Given the description of an element on the screen output the (x, y) to click on. 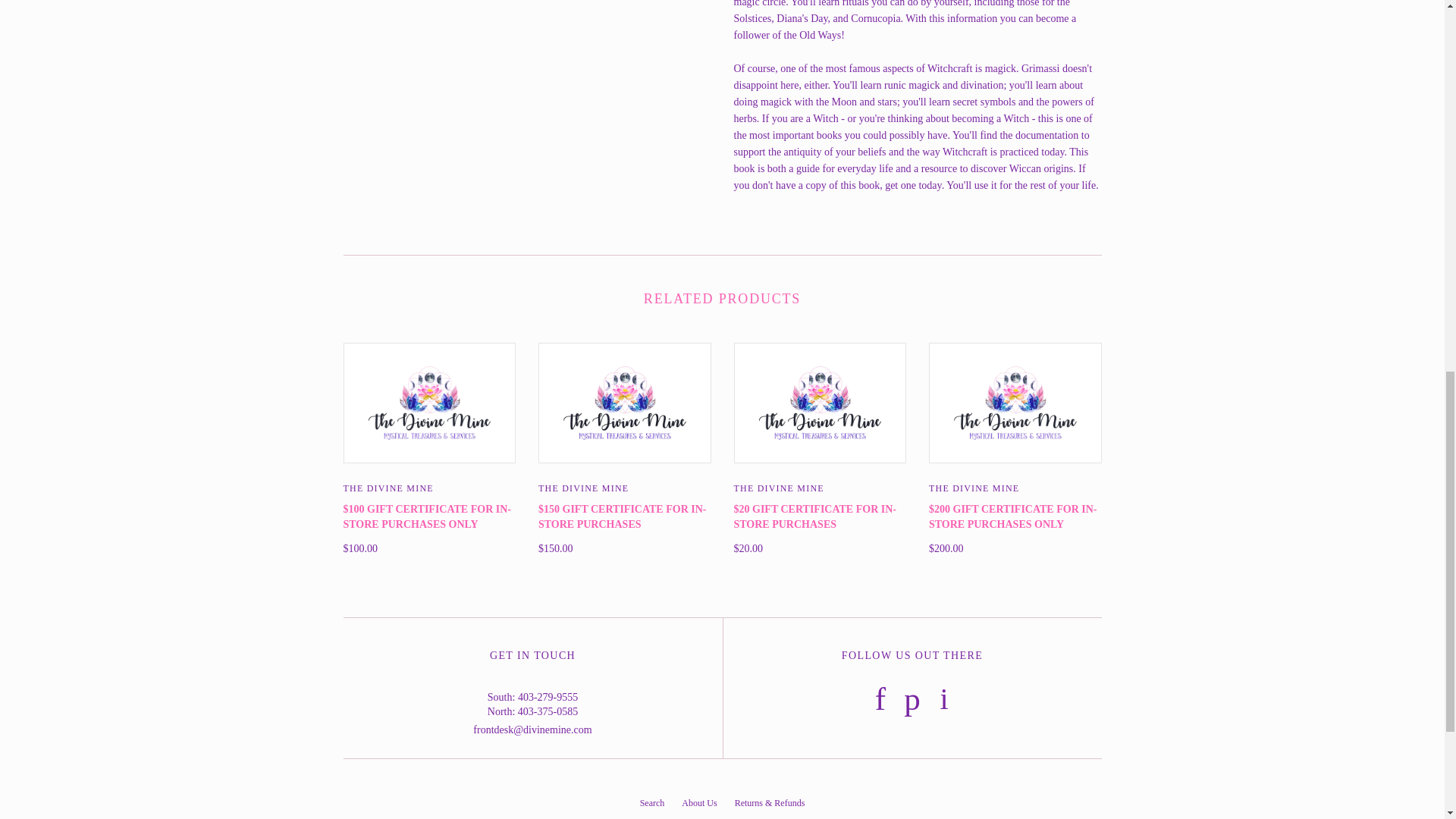
The Divine Mine (387, 487)
The Divine Mine (778, 487)
The Divine Mine (973, 487)
The Divine Mine (583, 487)
